Given the description of an element on the screen output the (x, y) to click on. 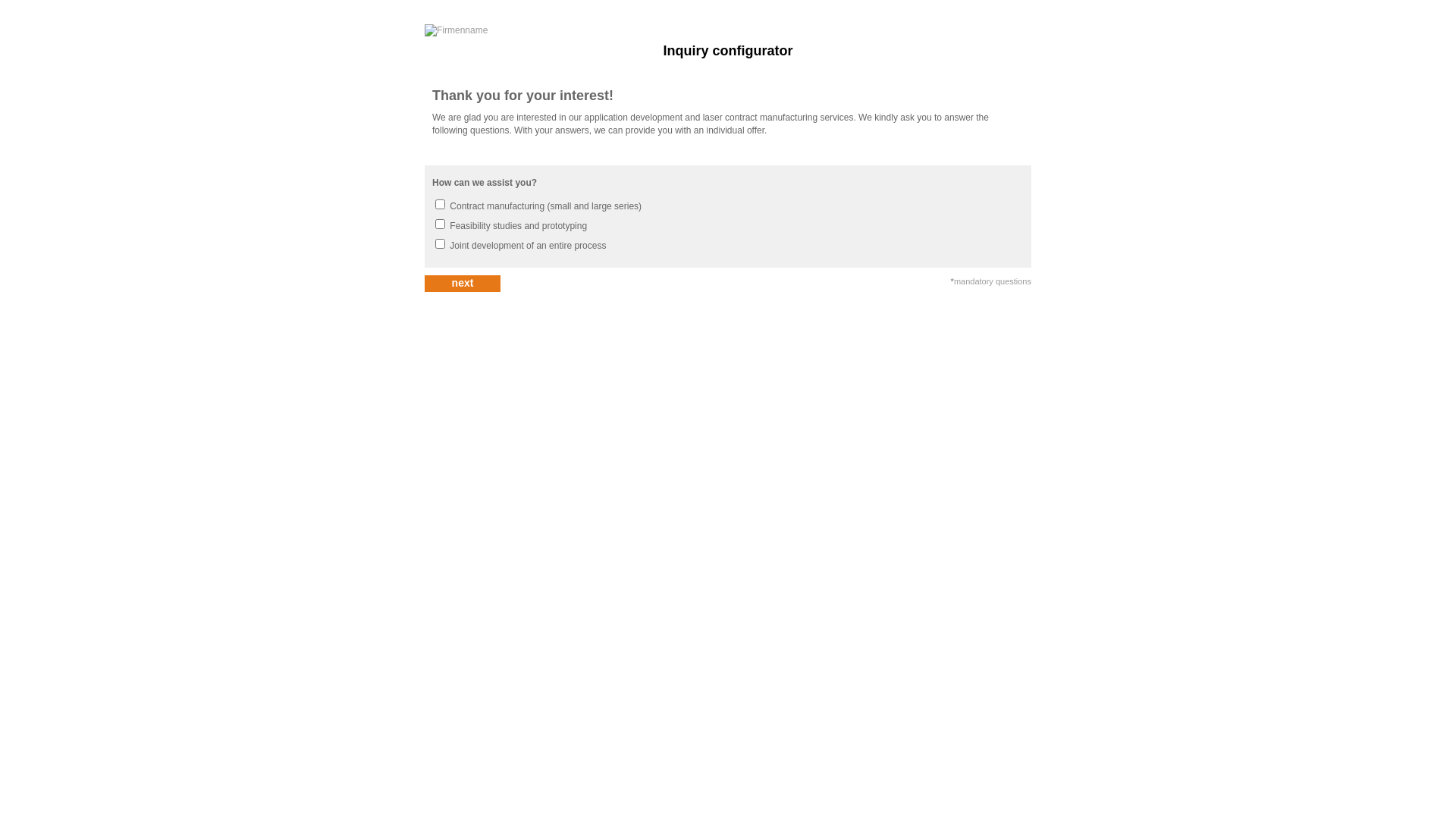
next Element type: text (462, 283)
